Given the description of an element on the screen output the (x, y) to click on. 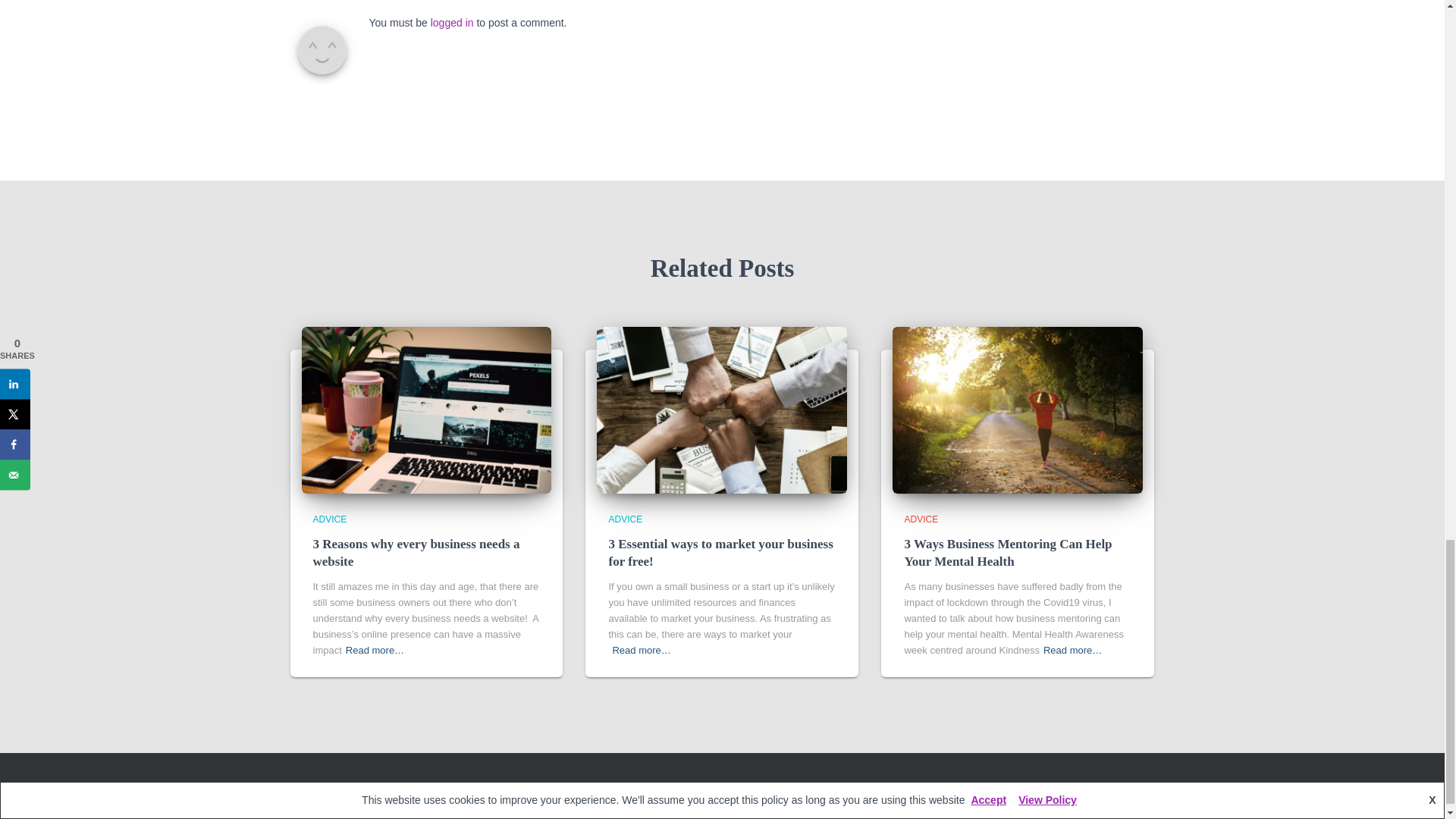
View all posts in Advice (329, 519)
View all posts in Advice (625, 519)
3 Reasons why every business needs a website (426, 409)
3 Essential ways to market your business for free! (721, 409)
3 Essential ways to market your business for free! (720, 553)
logged in (452, 22)
ADVICE (329, 519)
ADVICE (625, 519)
3 Reasons why every business needs a website (416, 553)
3 Reasons why every business needs a website (416, 553)
3 Essential ways to market your business for free! (720, 553)
